Given the description of an element on the screen output the (x, y) to click on. 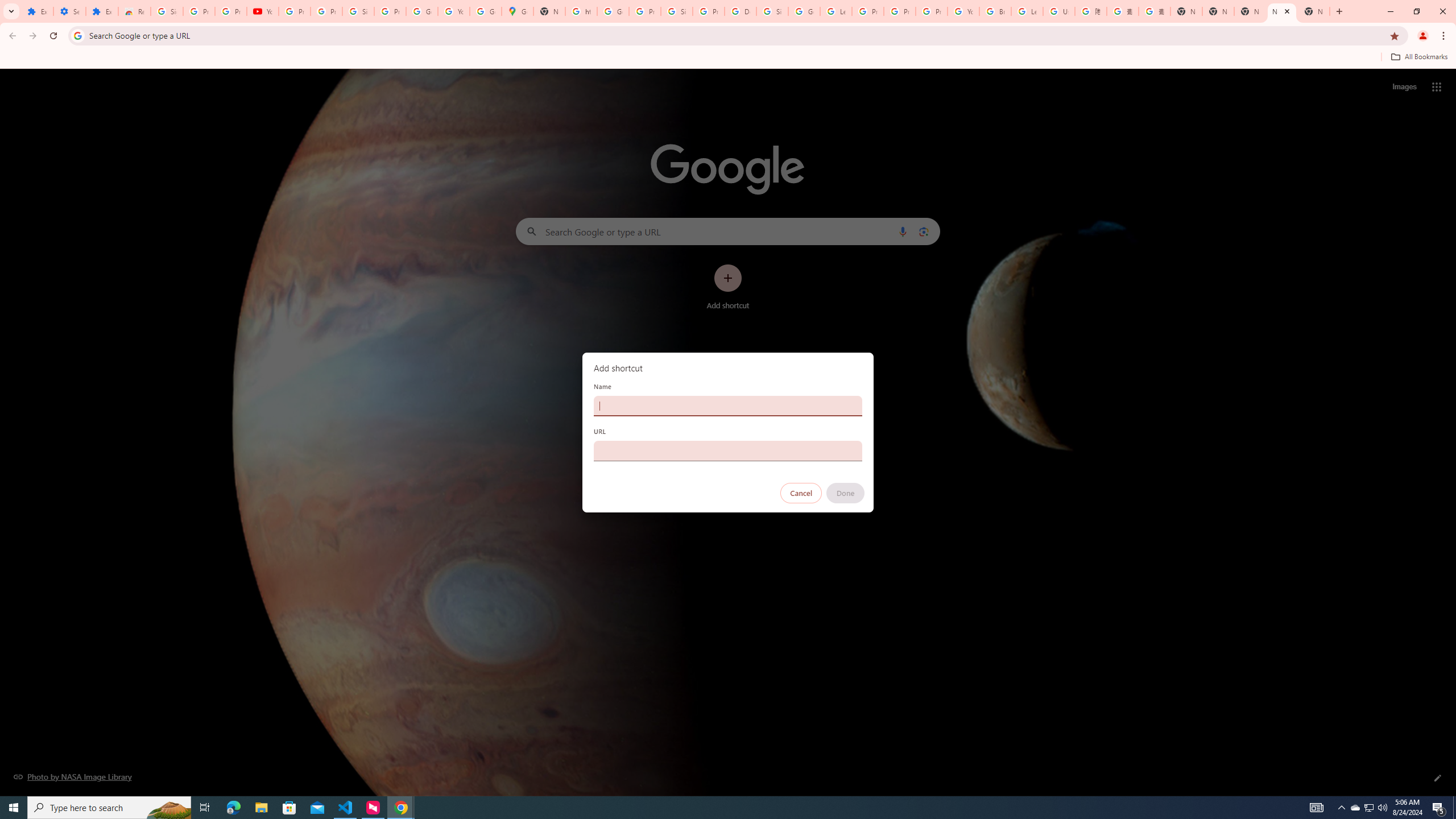
Cancel (801, 493)
Extensions (37, 11)
Google Account (421, 11)
YouTube (262, 11)
New Tab (1313, 11)
Name (727, 405)
